Given the description of an element on the screen output the (x, y) to click on. 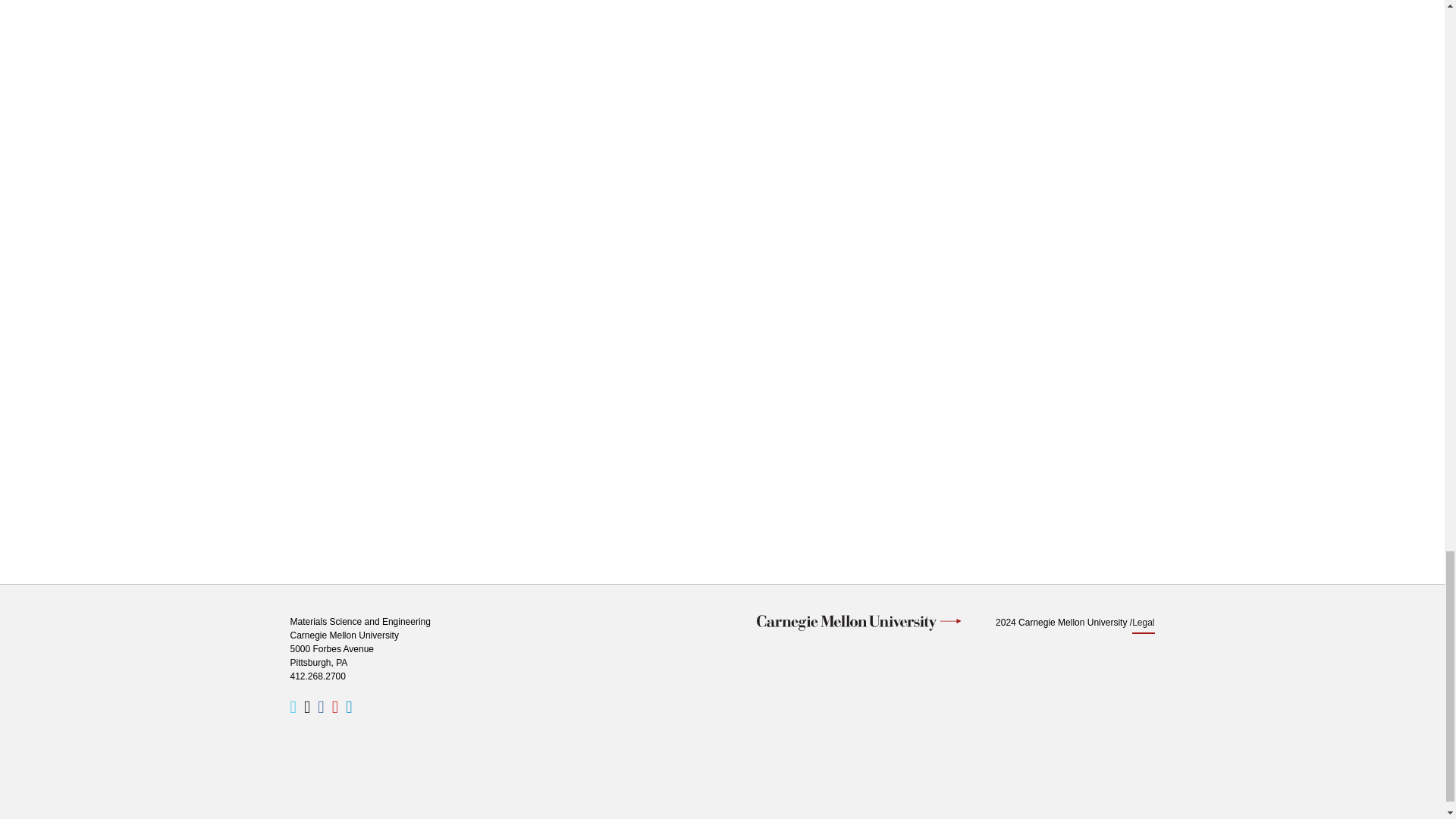
College of Engineering's Facebook (320, 706)
Visit MSE's Instagram (307, 706)
Instagram (307, 706)
CMU Engineering LinkedIn (349, 706)
Twitter (292, 706)
LinkedIn (349, 706)
Facebook (320, 706)
MSE Twitter (292, 706)
CMU Engineering Youtube (334, 706)
Youtube (334, 706)
